Given the description of an element on the screen output the (x, y) to click on. 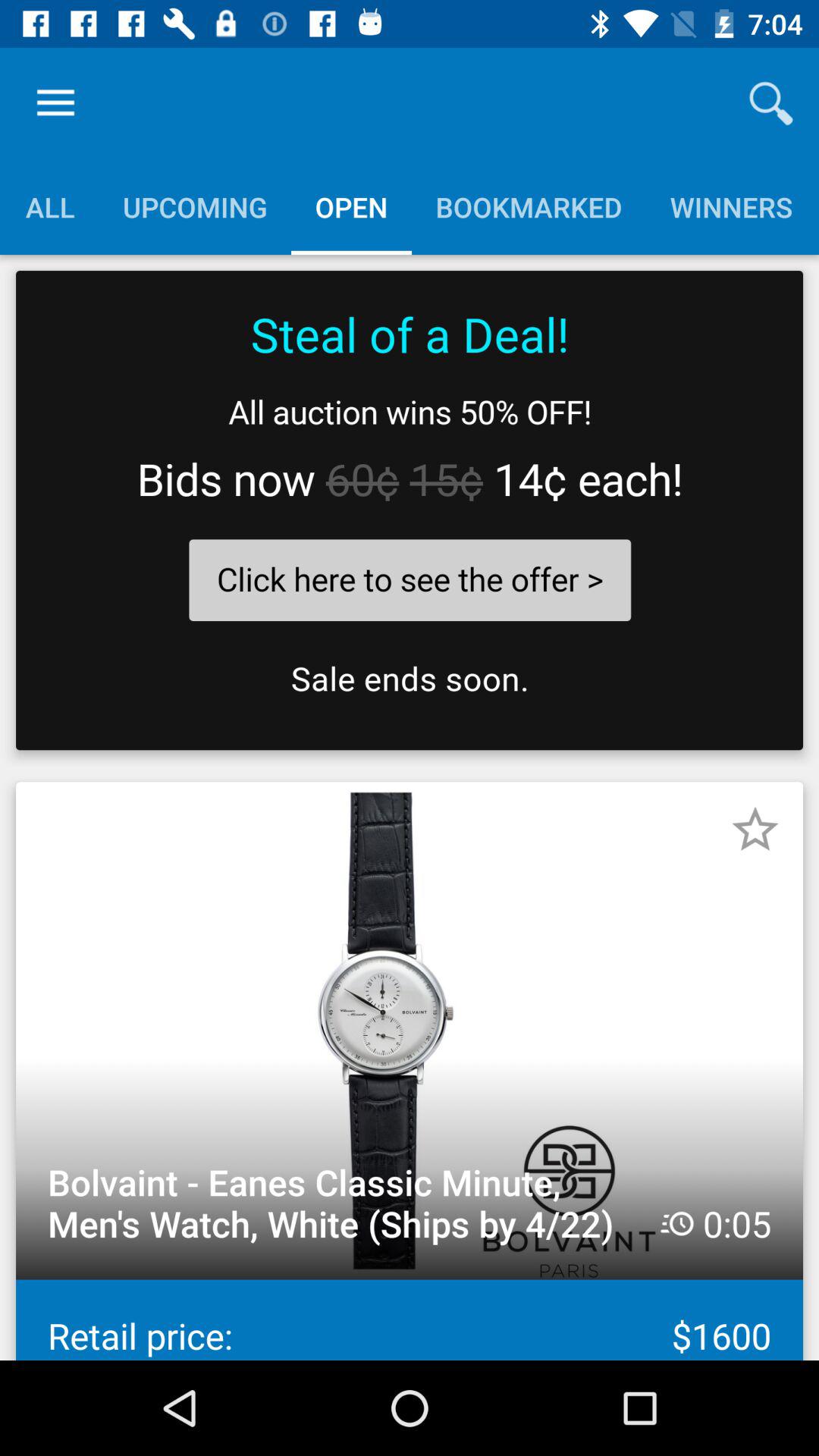
go to sale offer (409, 510)
